Given the description of an element on the screen output the (x, y) to click on. 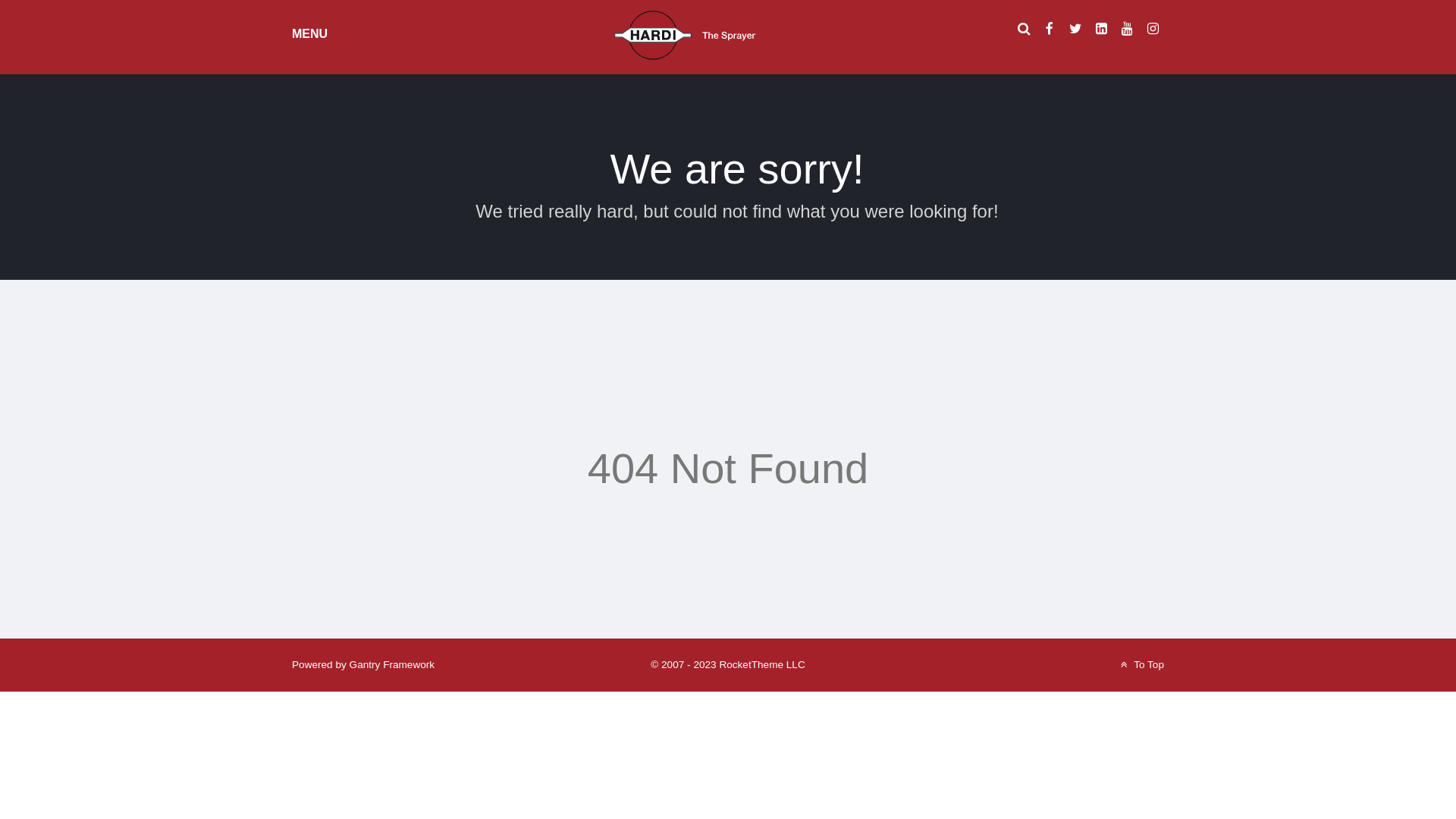
Gantry Framework Element type: text (392, 664)
To Top Element type: text (1140, 664)
